Given the description of an element on the screen output the (x, y) to click on. 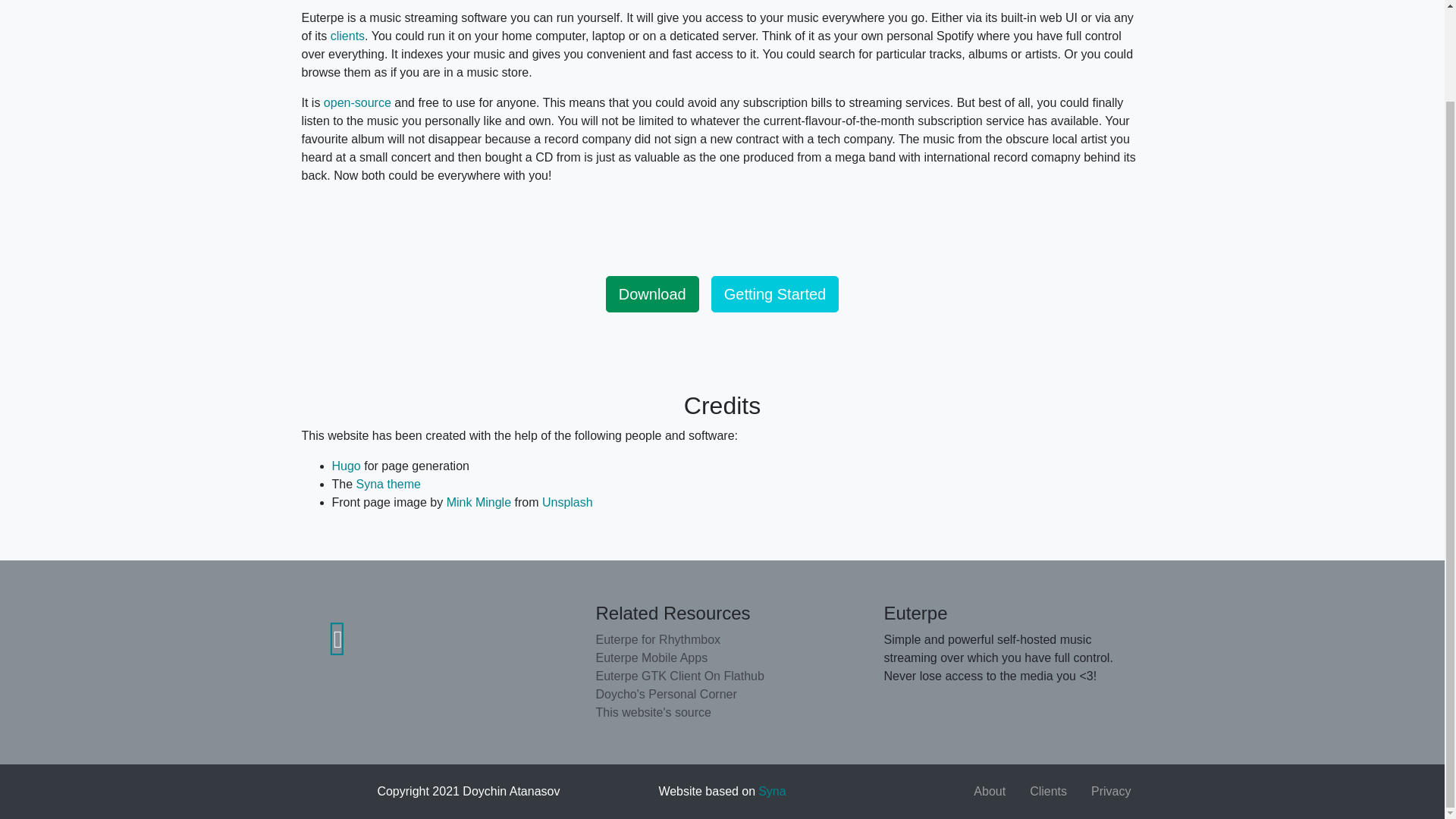
Download (651, 294)
Unsplash (566, 502)
Euterpe GitHub repository (337, 639)
Getting Started (775, 294)
Syna theme (388, 483)
Clients (1047, 791)
Euterpe for Rhythmbox (721, 639)
Privacy (1110, 791)
Doycho's Personal Corner (721, 694)
open-source (357, 102)
Hugo (346, 465)
Euterpe Mobile Apps (721, 658)
Mink Mingle (478, 502)
Syna (772, 790)
This website's source (721, 712)
